Given the description of an element on the screen output the (x, y) to click on. 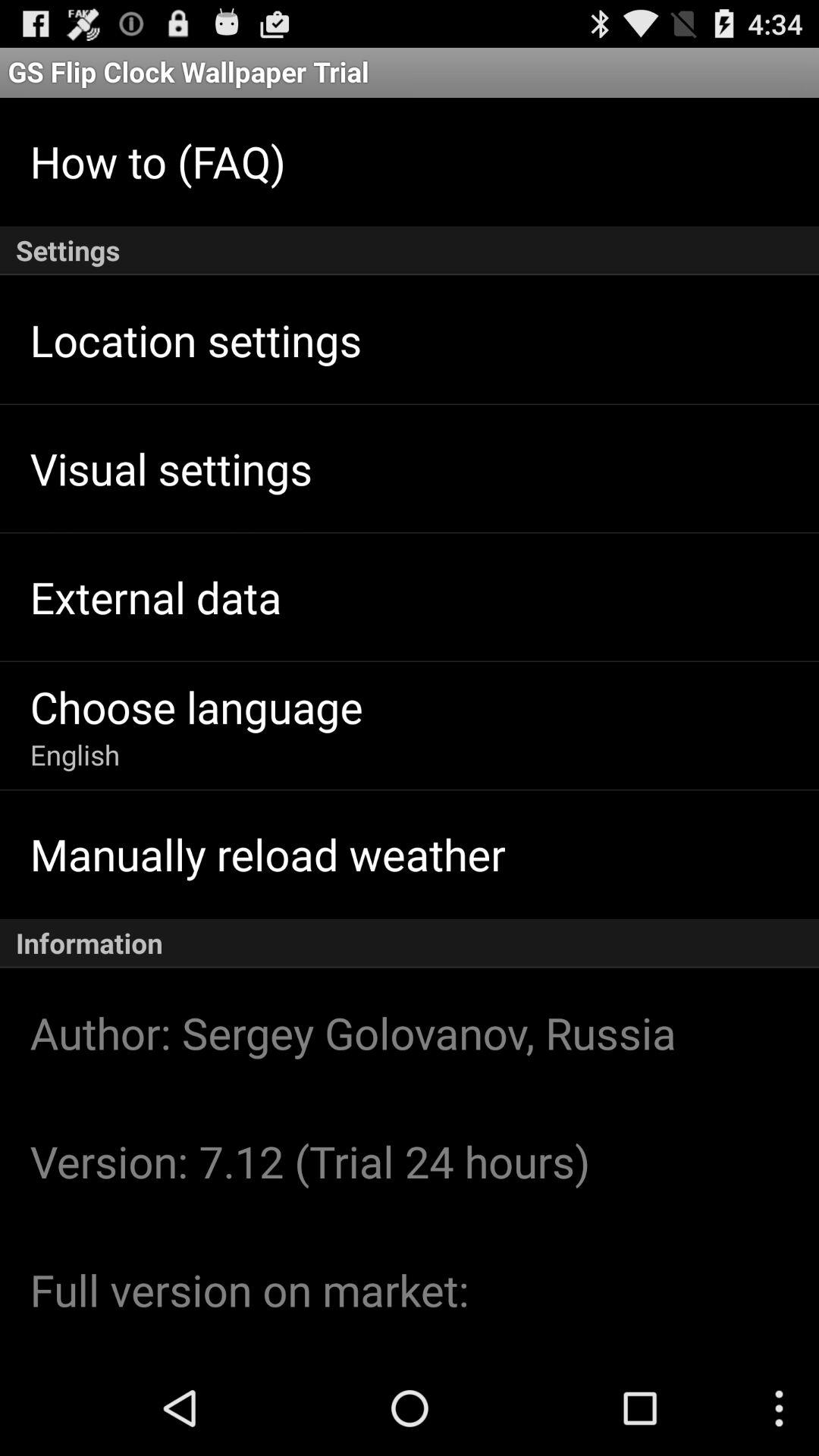
open the item below author sergey golovanov icon (310, 1160)
